Given the description of an element on the screen output the (x, y) to click on. 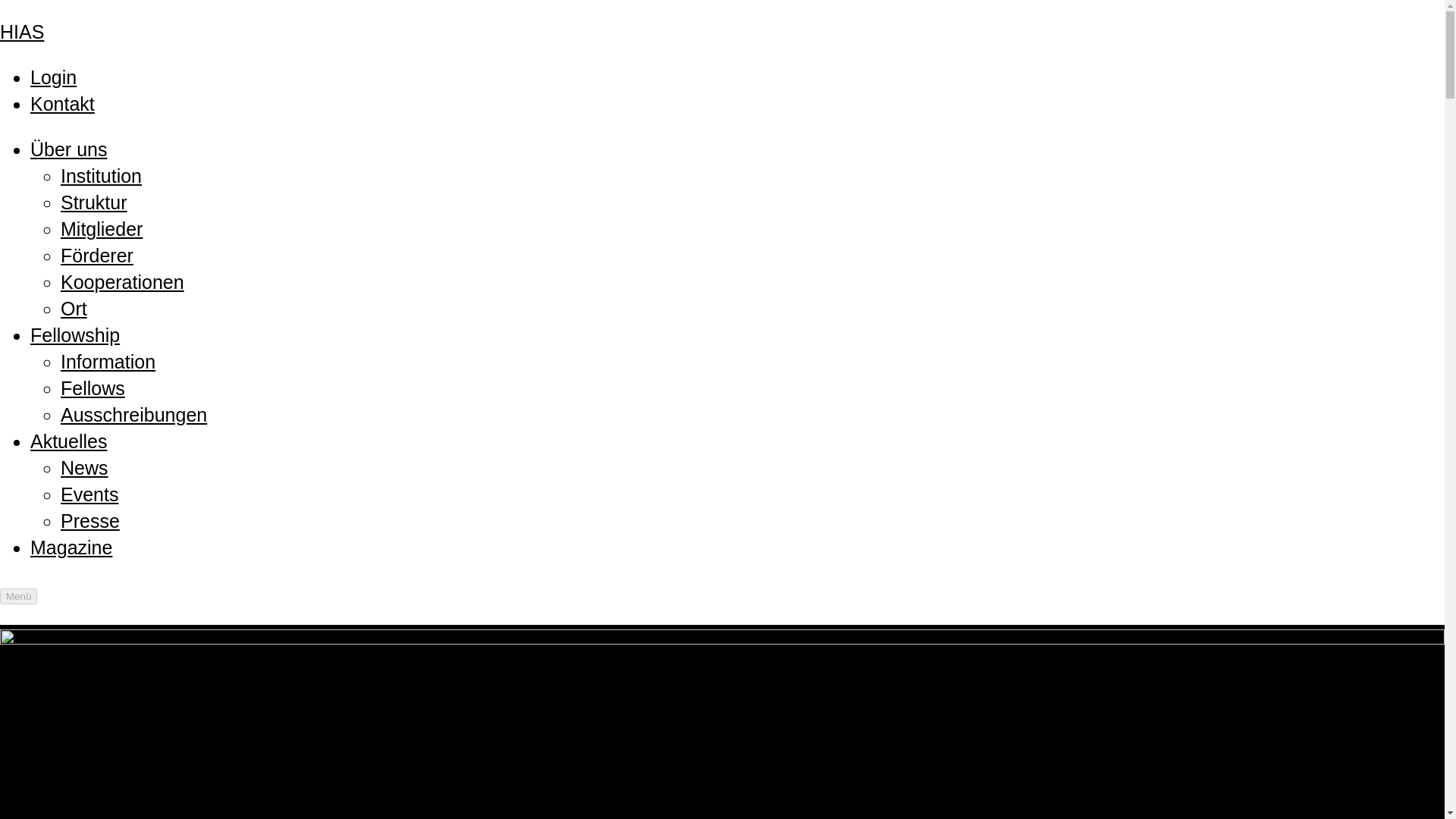
Aktuelles (68, 441)
Mitglieder (101, 228)
Fellows (93, 387)
Institution (101, 175)
Login (53, 76)
Events (89, 494)
Struktur (94, 201)
Kooperationen (122, 281)
Magazine (71, 547)
HIAS (21, 31)
